Given the description of an element on the screen output the (x, y) to click on. 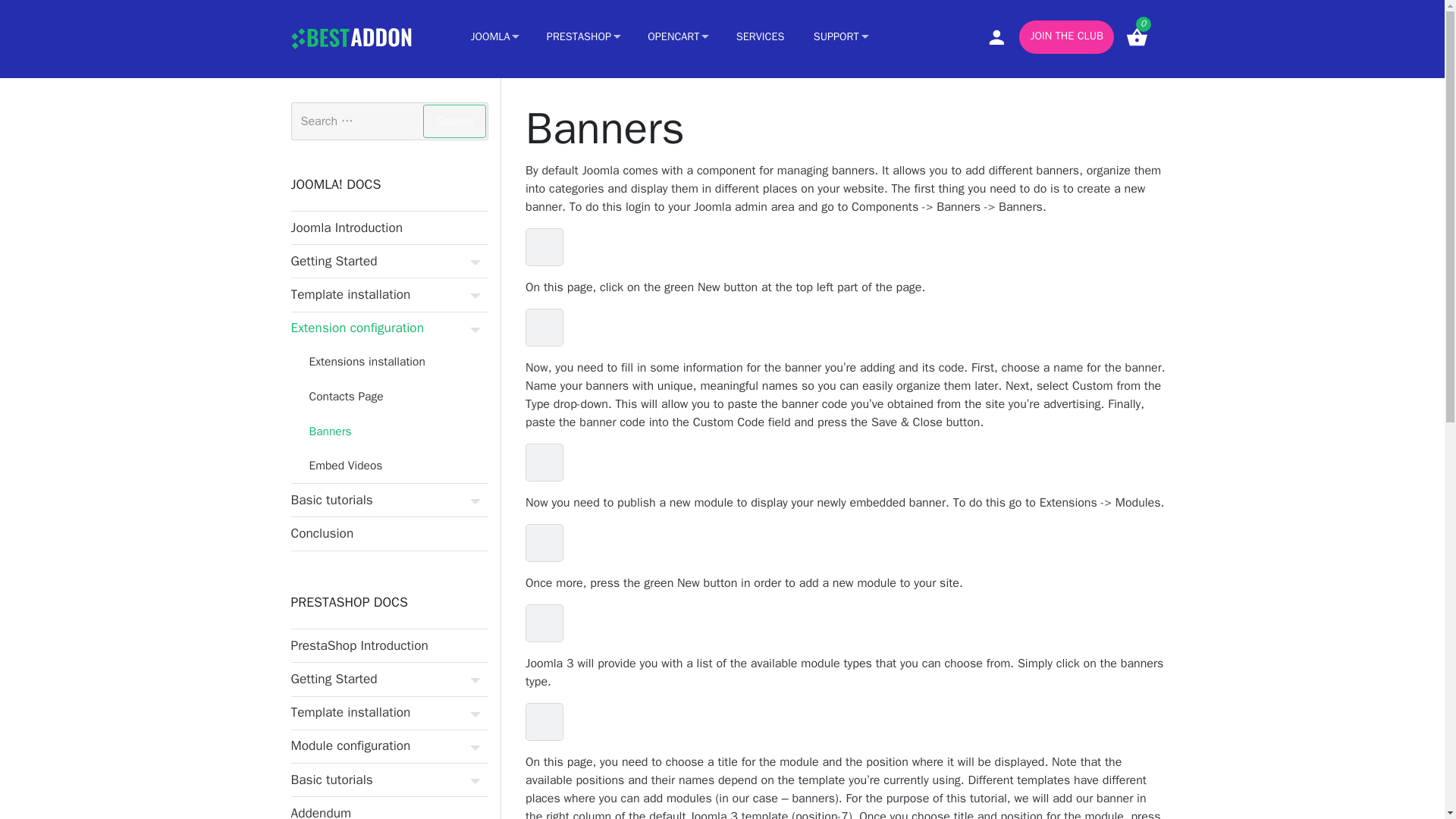
SERVICES (760, 37)
0 (1136, 37)
Basic tutorials (390, 500)
JOIN THE CLUB (1066, 37)
Embed Videos (398, 465)
Banners (398, 431)
Getting Started (390, 260)
Joomla Introduction (390, 227)
Membership Plans (1066, 37)
JOOMLA (494, 37)
Search (454, 121)
PRESTASHOP (582, 37)
BESTADDON (366, 38)
BESTADDON (366, 38)
SUPPORT (839, 37)
